Given the description of an element on the screen output the (x, y) to click on. 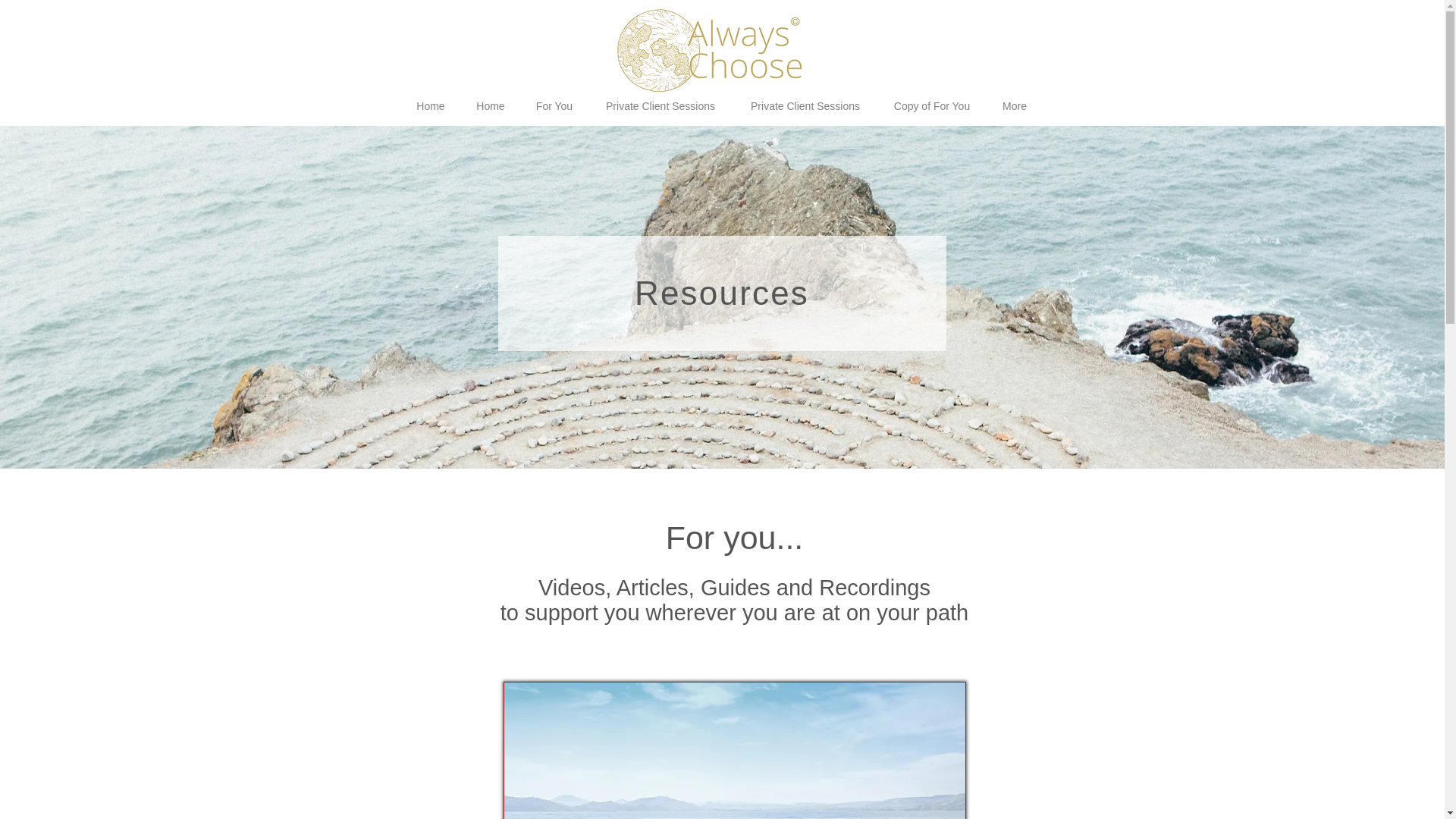
Home (491, 105)
Private Client Sessions (804, 105)
Private Client Sessions (660, 105)
Copy of For You (932, 105)
For You (553, 105)
Home (430, 105)
